Given the description of an element on the screen output the (x, y) to click on. 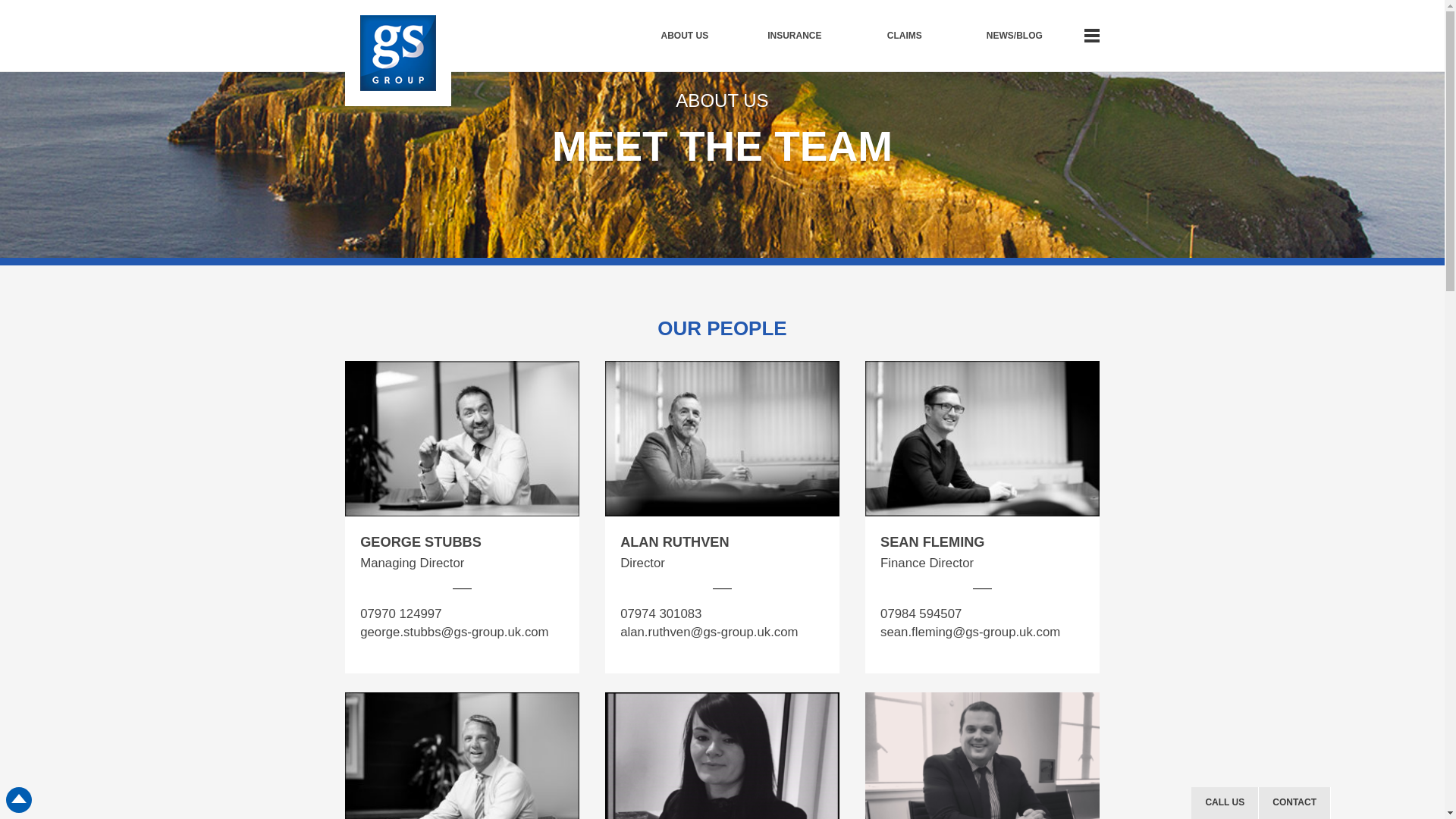
INSURANCE (793, 35)
CLAIMS (903, 35)
ABOUT US (683, 35)
Gs Group (398, 53)
